Given the description of an element on the screen output the (x, y) to click on. 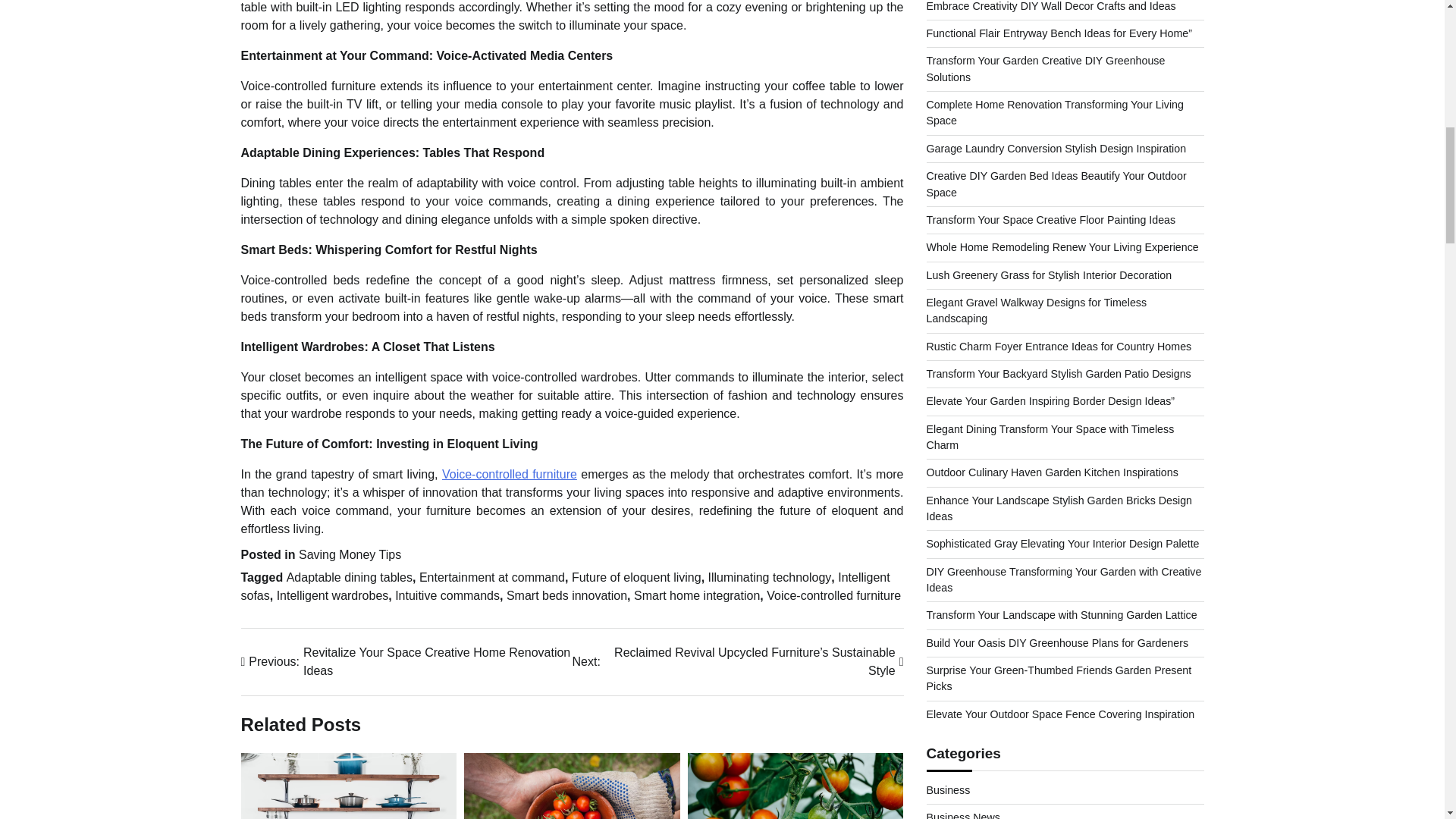
Smart beds innovation (566, 594)
Entertainment at command (491, 576)
Adaptable dining tables (349, 576)
Voice-controlled furniture (834, 594)
Saving Money Tips (349, 554)
Intelligent wardrobes (332, 594)
Illuminating technology (769, 576)
Intelligent sofas (565, 585)
Intuitive commands (446, 594)
Voice-controlled furniture (509, 473)
Smart home integration (696, 594)
Future of eloquent living (636, 576)
